Given the description of an element on the screen output the (x, y) to click on. 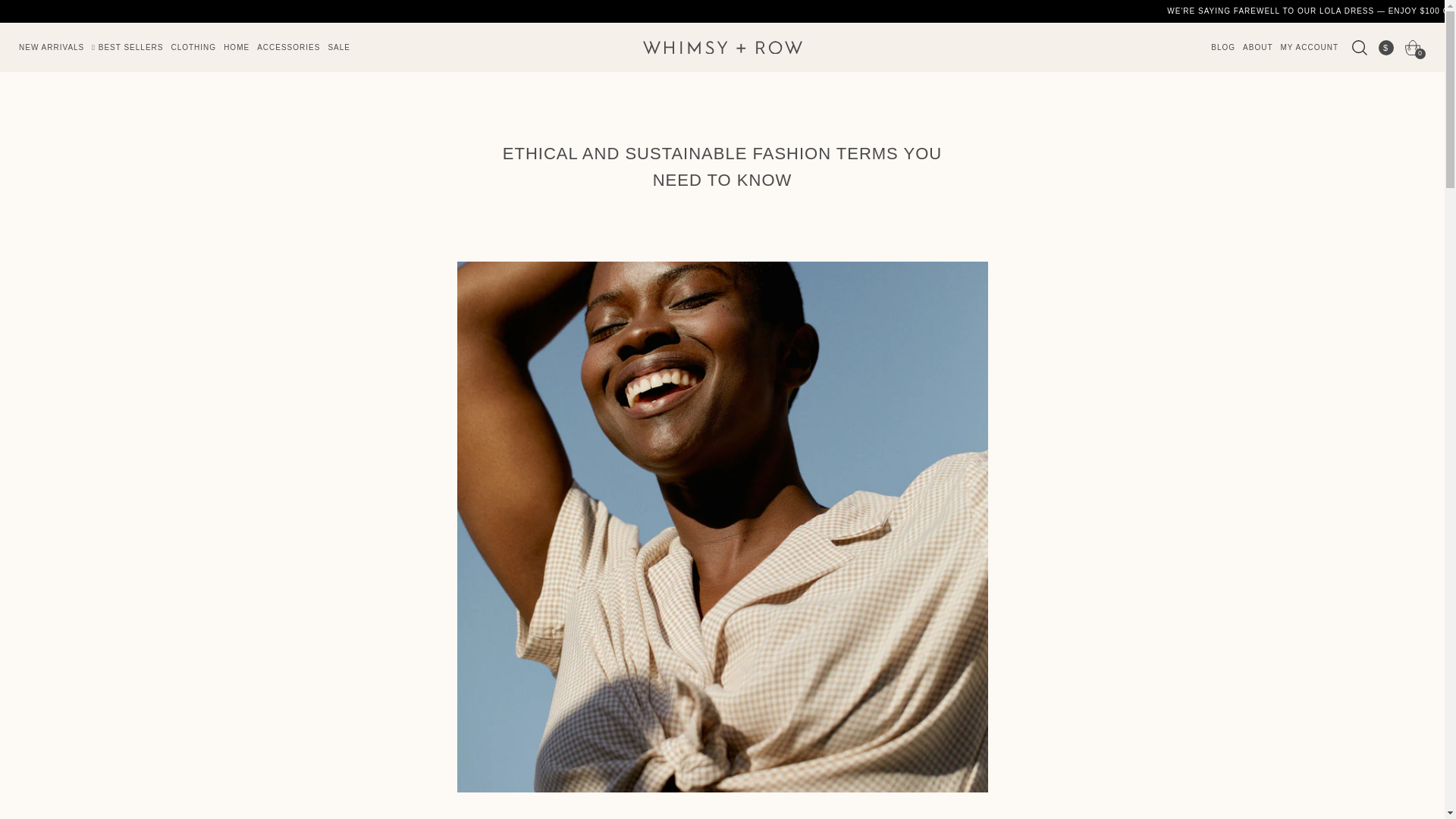
Search (1294, 209)
HOME (236, 47)
About (1257, 47)
ABOUT (1257, 47)
ACCESSORIES (288, 47)
MY ACCOUNT (1308, 47)
My Account (1308, 47)
NEW ARRIVALS (51, 47)
Blog (1222, 47)
ACCESSORIES (288, 47)
